Given the description of an element on the screen output the (x, y) to click on. 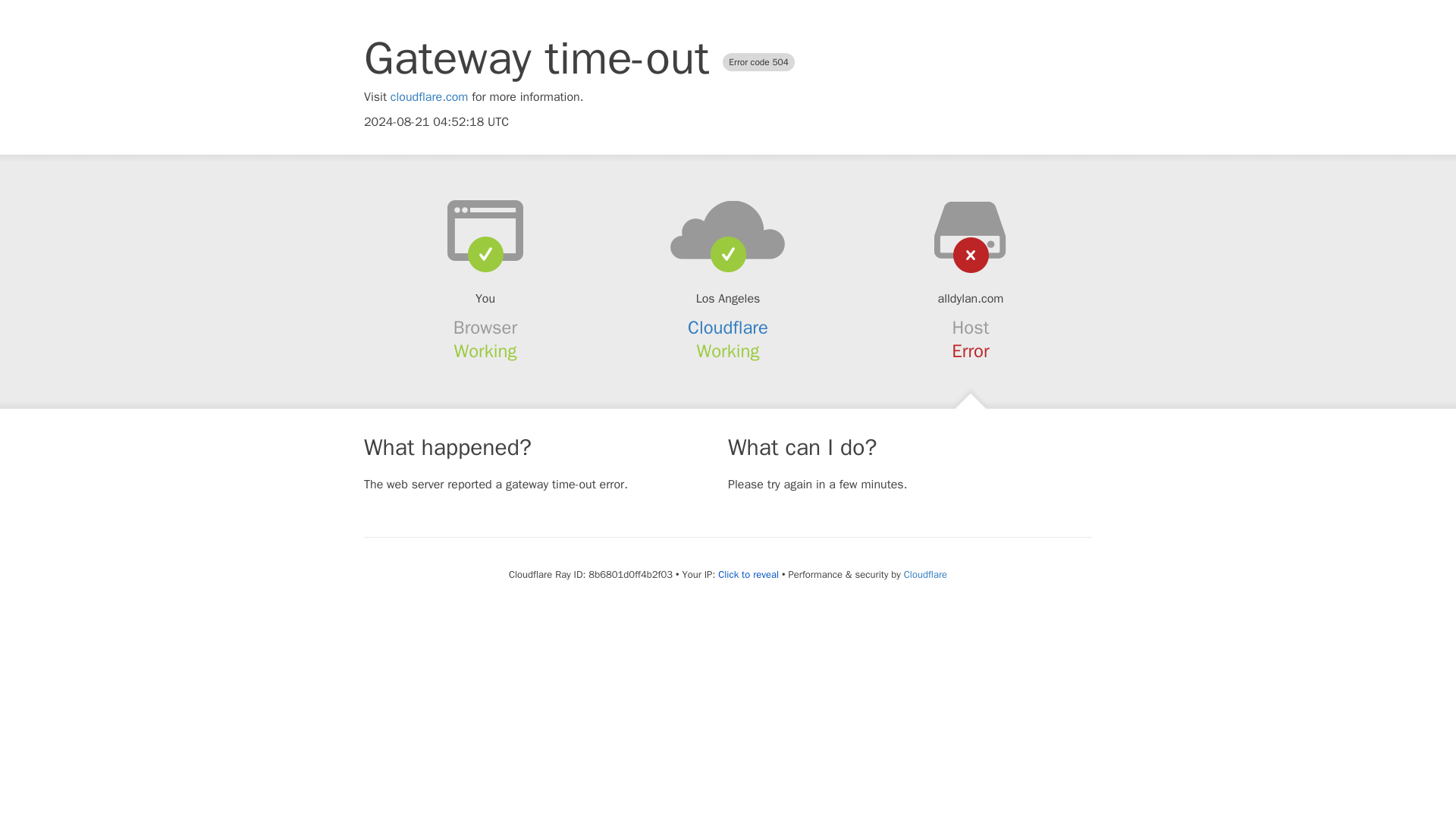
Cloudflare (925, 574)
Cloudflare (727, 327)
Click to reveal (747, 574)
cloudflare.com (429, 96)
